Given the description of an element on the screen output the (x, y) to click on. 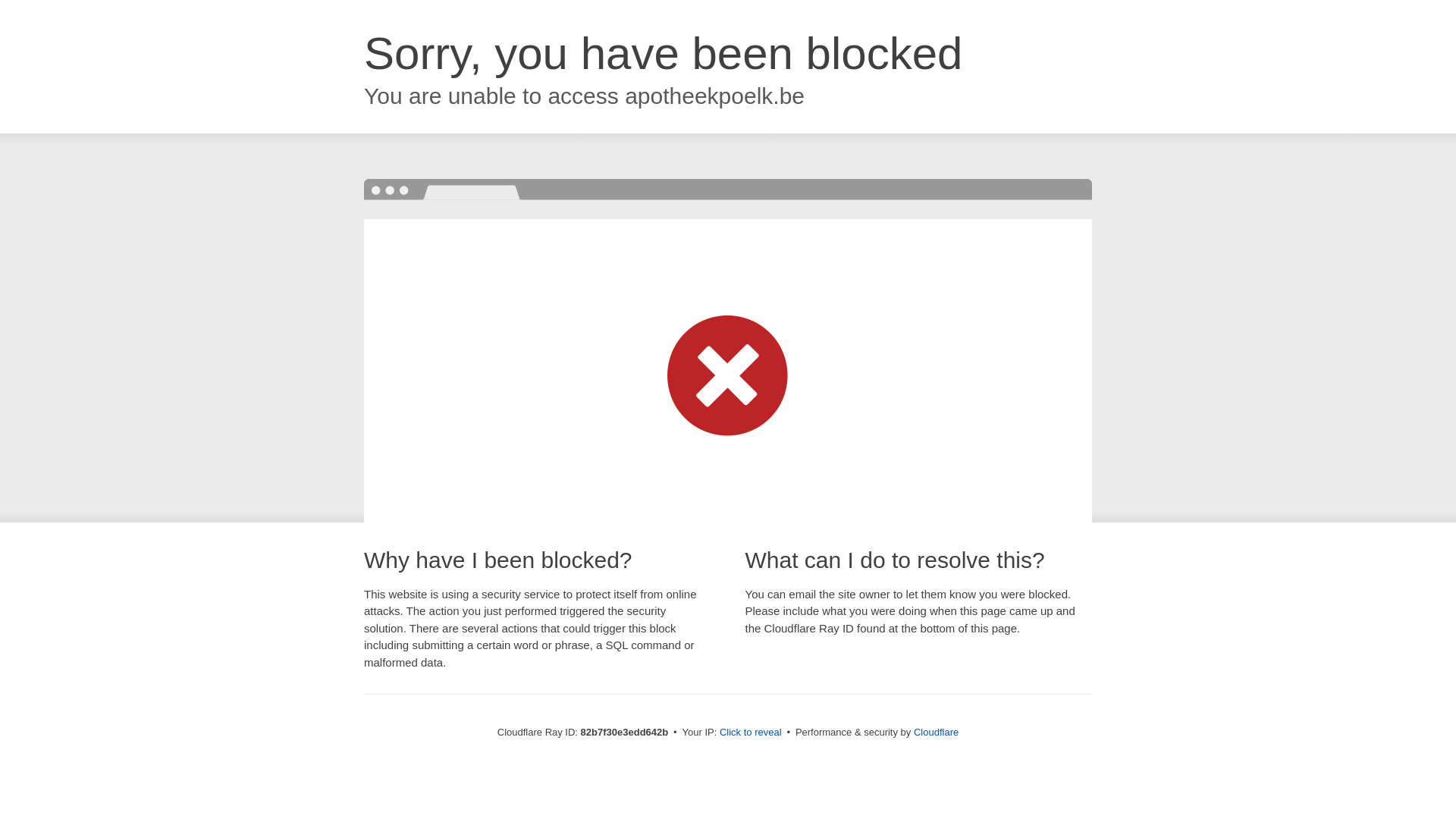
Click to reveal Element type: text (750, 732)
Cloudflare Element type: text (935, 731)
